Given the description of an element on the screen output the (x, y) to click on. 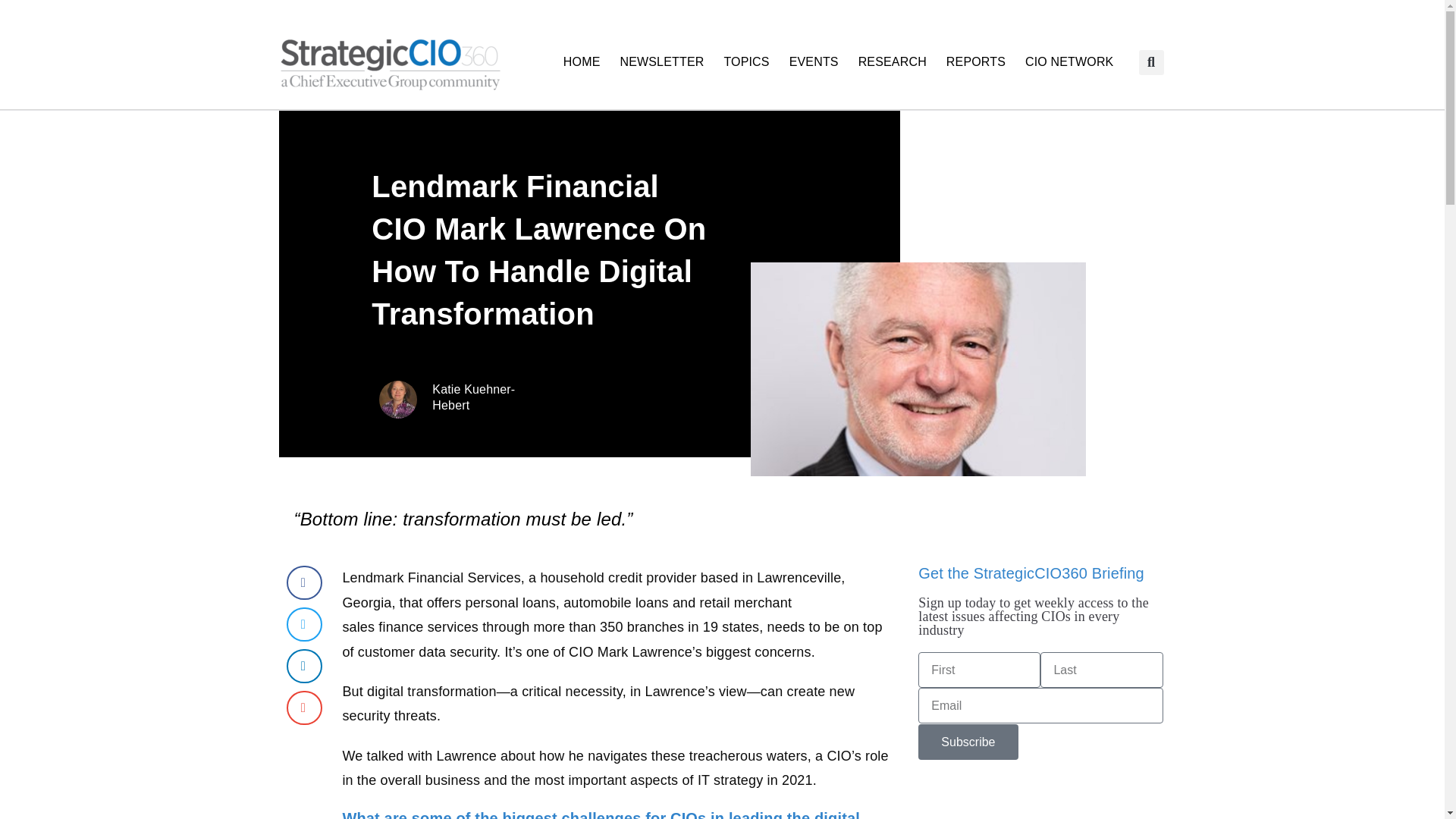
EVENTS (813, 62)
REPORTS (975, 62)
TOPICS (745, 62)
RESEARCH (892, 62)
NEWSLETTER (661, 62)
HOME (581, 62)
CIO NETWORK (1068, 62)
